Given the description of an element on the screen output the (x, y) to click on. 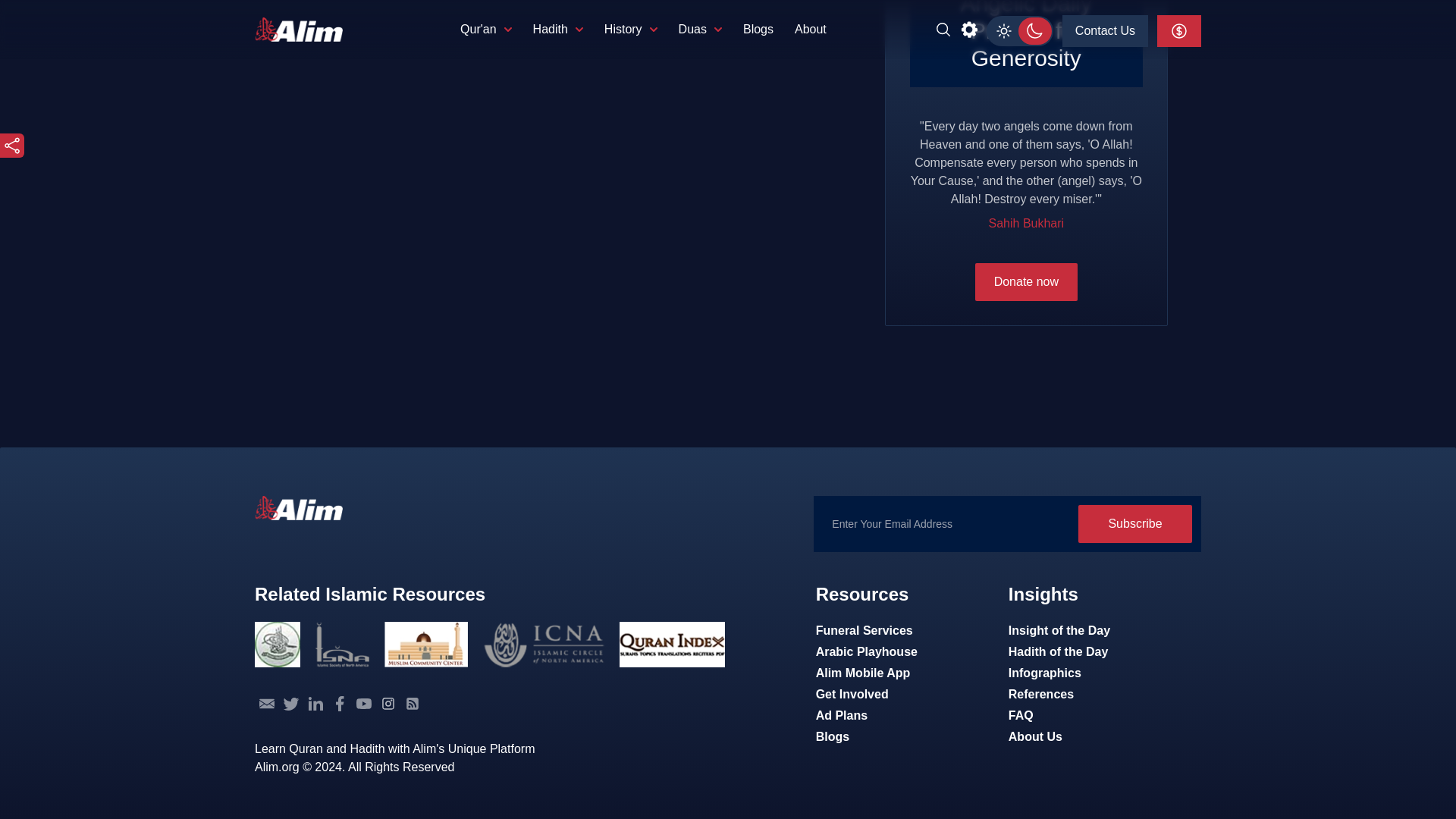
Alim.org (298, 508)
Donate now (1026, 281)
